Given the description of an element on the screen output the (x, y) to click on. 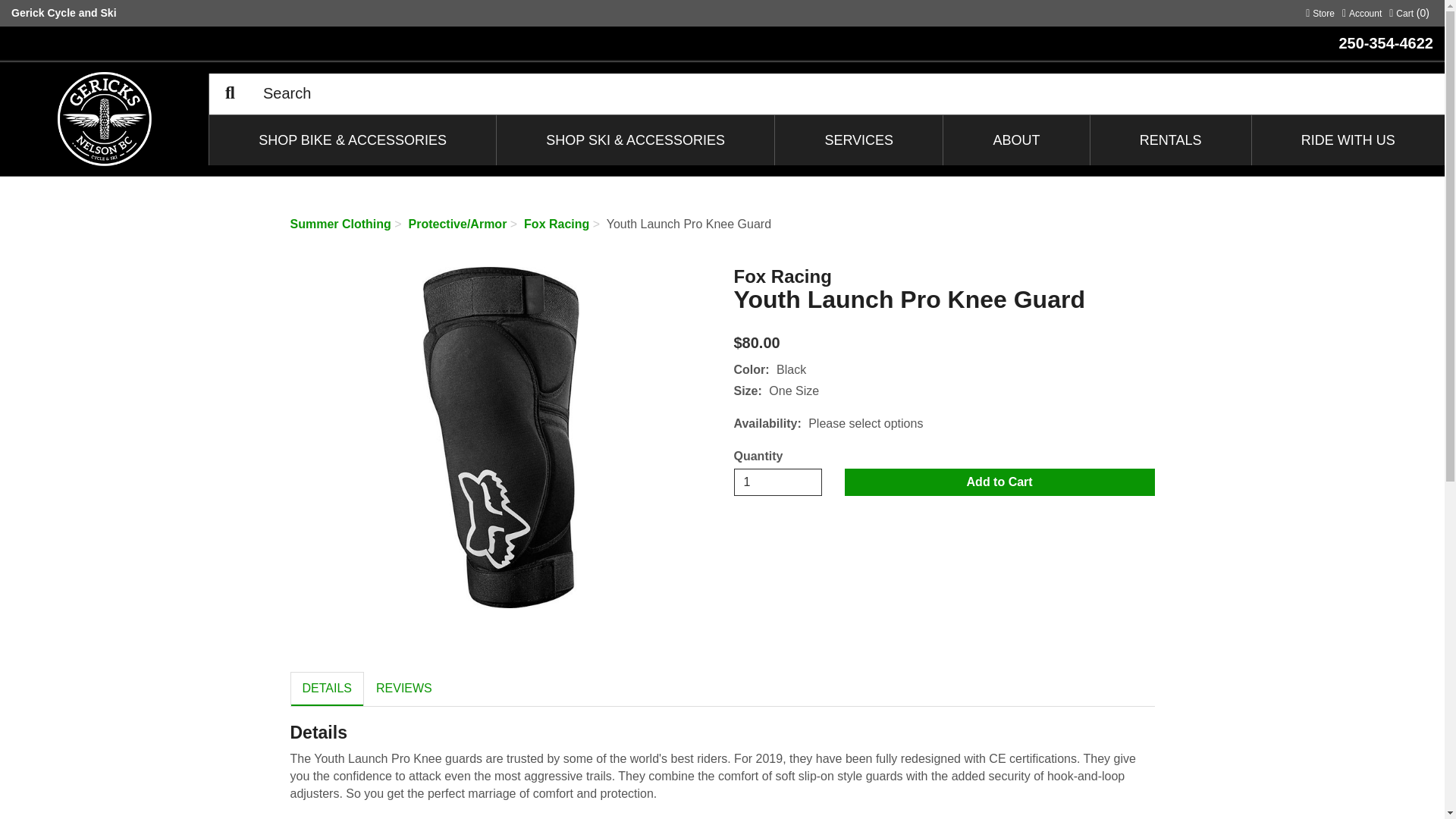
Account (1361, 11)
Search (229, 93)
Gerick Cycle and Ski Home Page (103, 118)
Gerick Cycle and Ski (63, 11)
1 (777, 482)
SERVICES (858, 140)
ABOUT (1320, 11)
Cart (1016, 140)
Store (1409, 11)
